Given the description of an element on the screen output the (x, y) to click on. 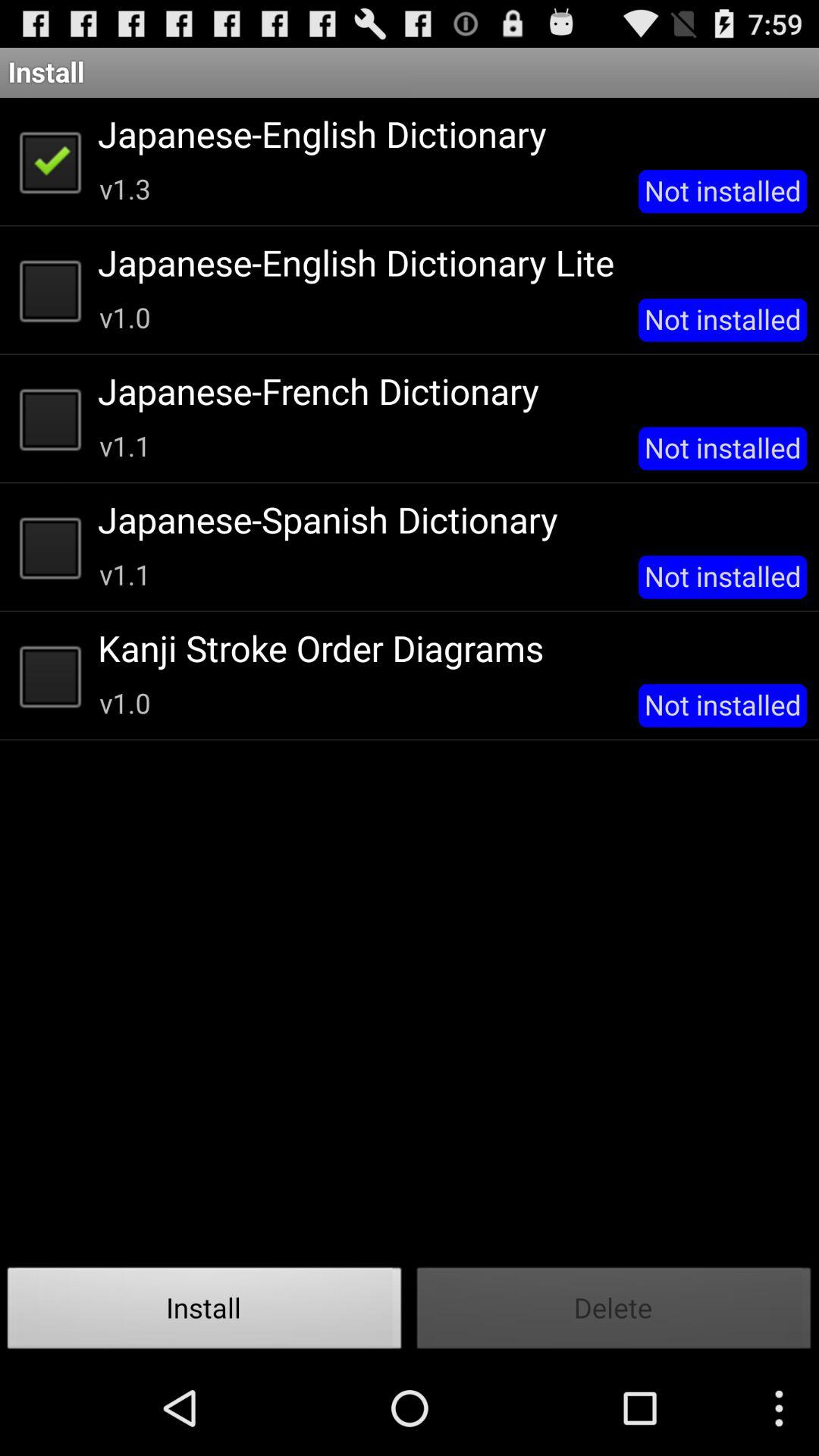
turn off the button to the right of install button (614, 1312)
